Given the description of an element on the screen output the (x, y) to click on. 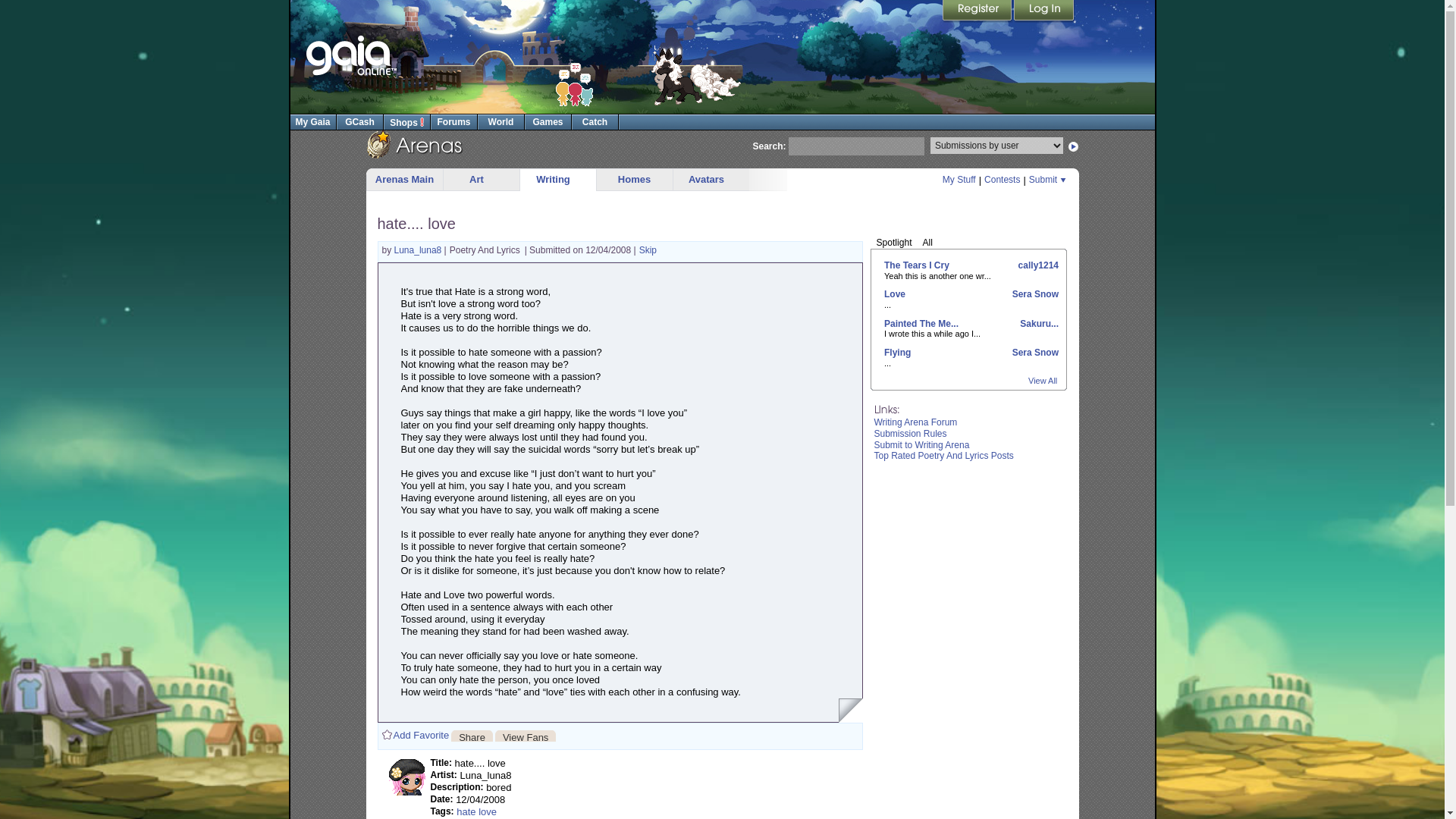
submit (1074, 146)
Create a free account now (977, 11)
Shops ! (406, 121)
Return to the Gaia Homepage (350, 56)
submit (1074, 146)
GCash (358, 121)
Register (977, 11)
Login to Gaia (1043, 11)
My Gaia (311, 121)
Zoo? Zoo? Zoomin'! (695, 75)
